Given the description of an element on the screen output the (x, y) to click on. 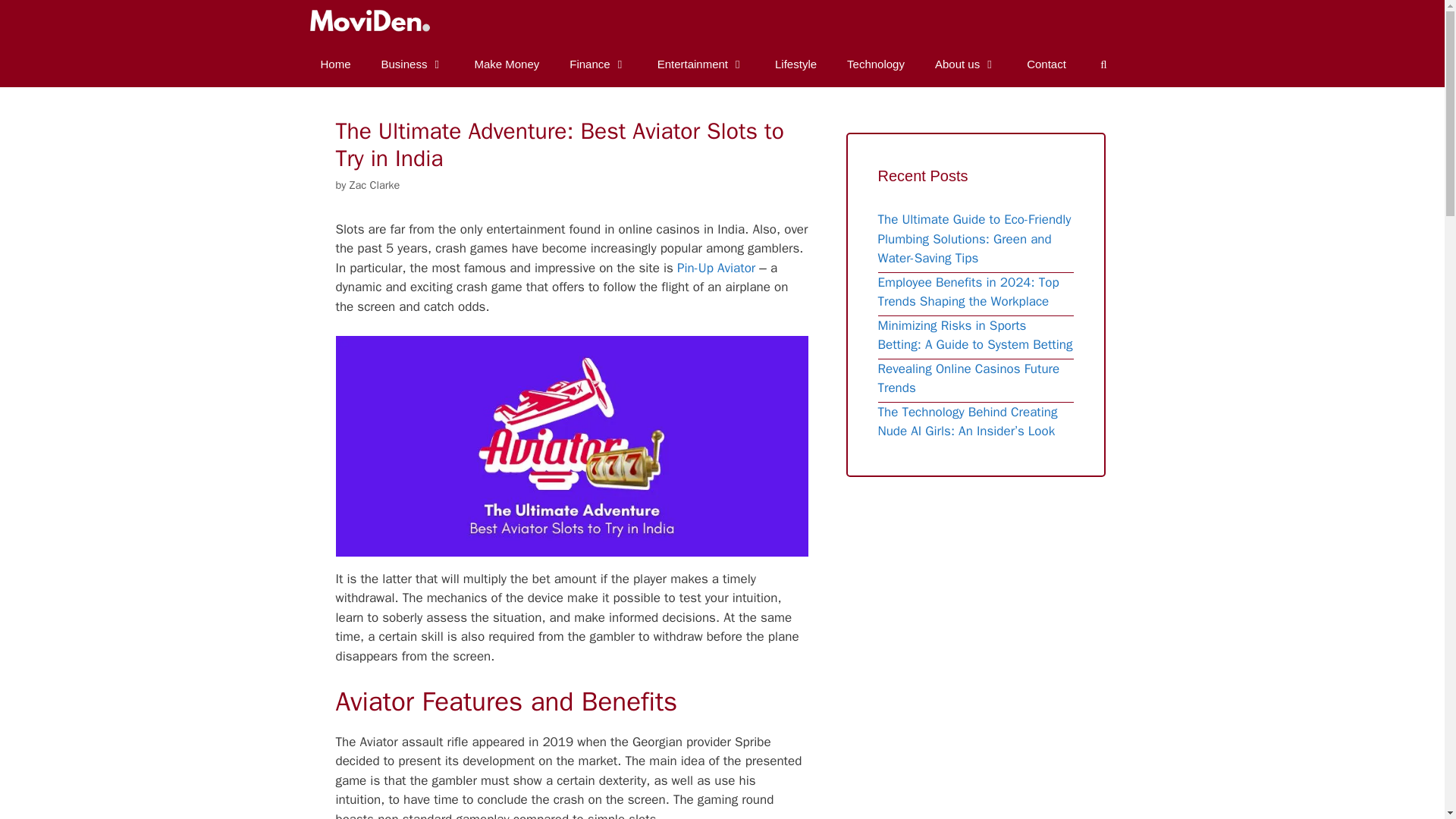
Finance (598, 63)
Make Money (506, 63)
Home (334, 63)
Business (413, 63)
View all posts by Zac Clarke (374, 184)
Moviden (367, 20)
Moviden (371, 20)
Advertisement (995, 606)
